Given the description of an element on the screen output the (x, y) to click on. 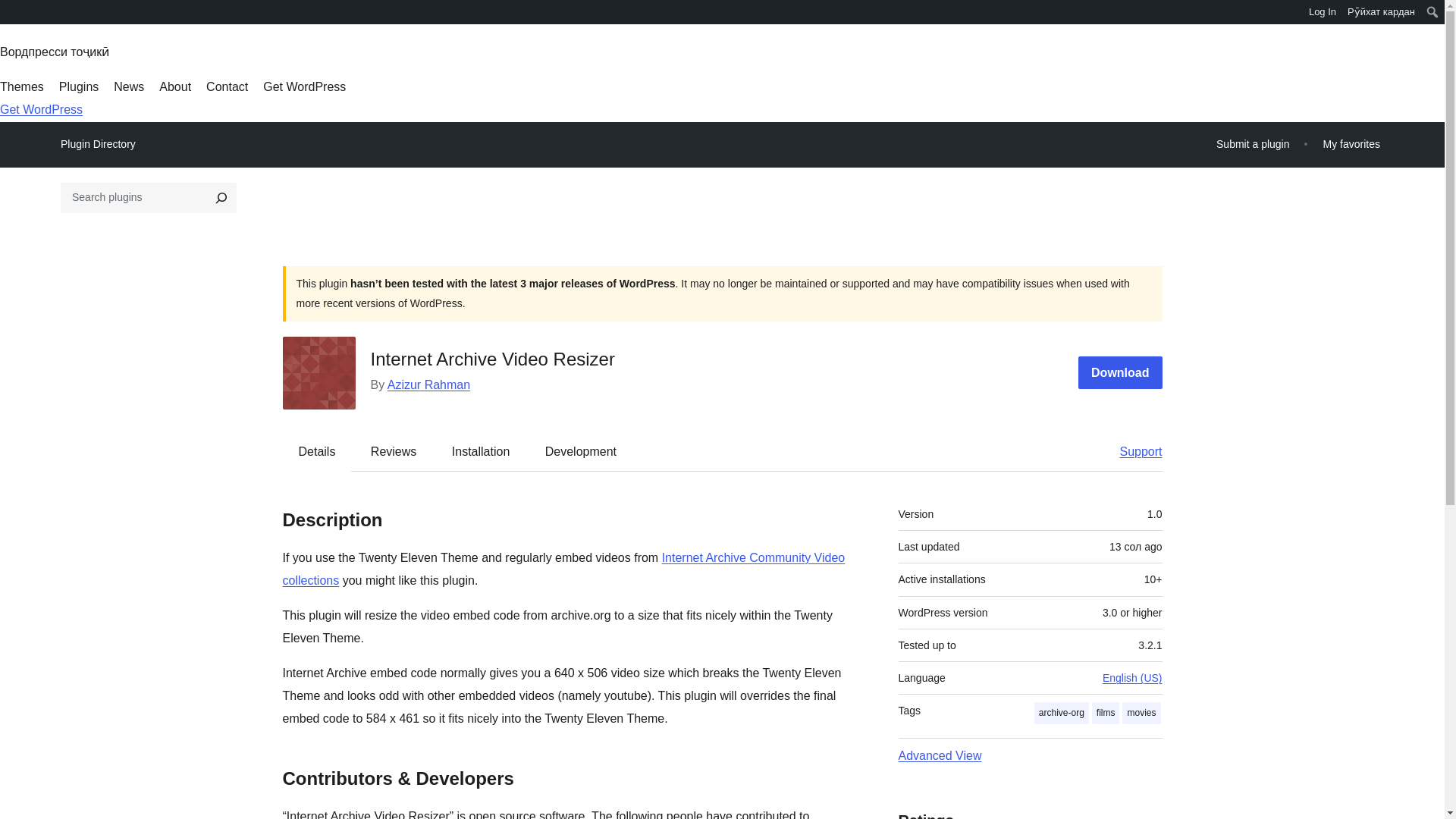
Log In (1322, 12)
My favorites (1351, 144)
Get WordPress (41, 109)
Download (1119, 372)
Internet Archive Community Video (563, 569)
Plugins (79, 87)
Azizur Rahman (428, 384)
Installation (480, 451)
Get WordPress (304, 87)
Support (1132, 451)
Internet Archive Community Video collections (563, 569)
News (128, 87)
About (174, 87)
Details (316, 451)
Themes (21, 87)
